Given the description of an element on the screen output the (x, y) to click on. 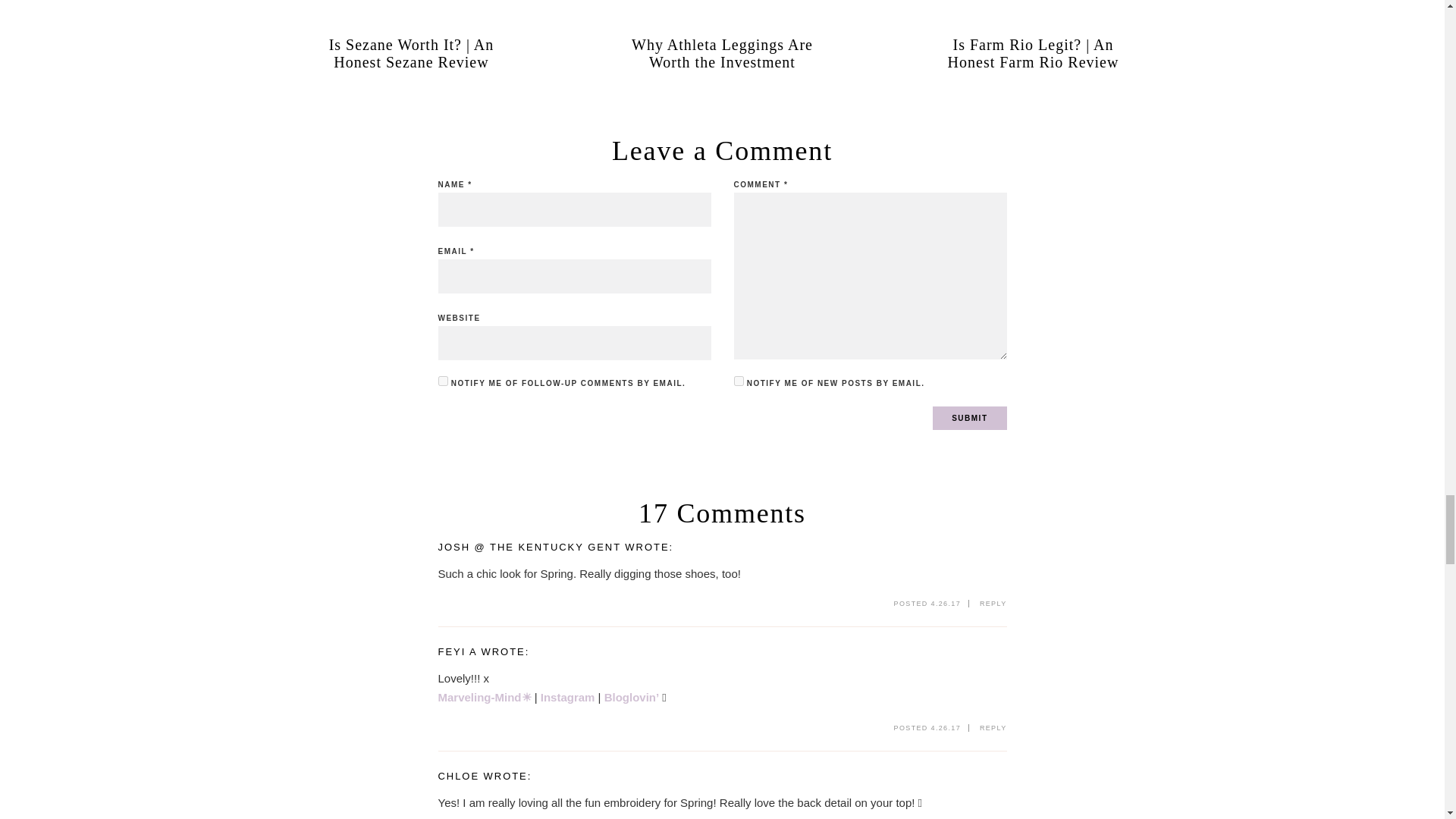
Submit (969, 417)
subscribe (443, 380)
subscribe (738, 380)
